Given the description of an element on the screen output the (x, y) to click on. 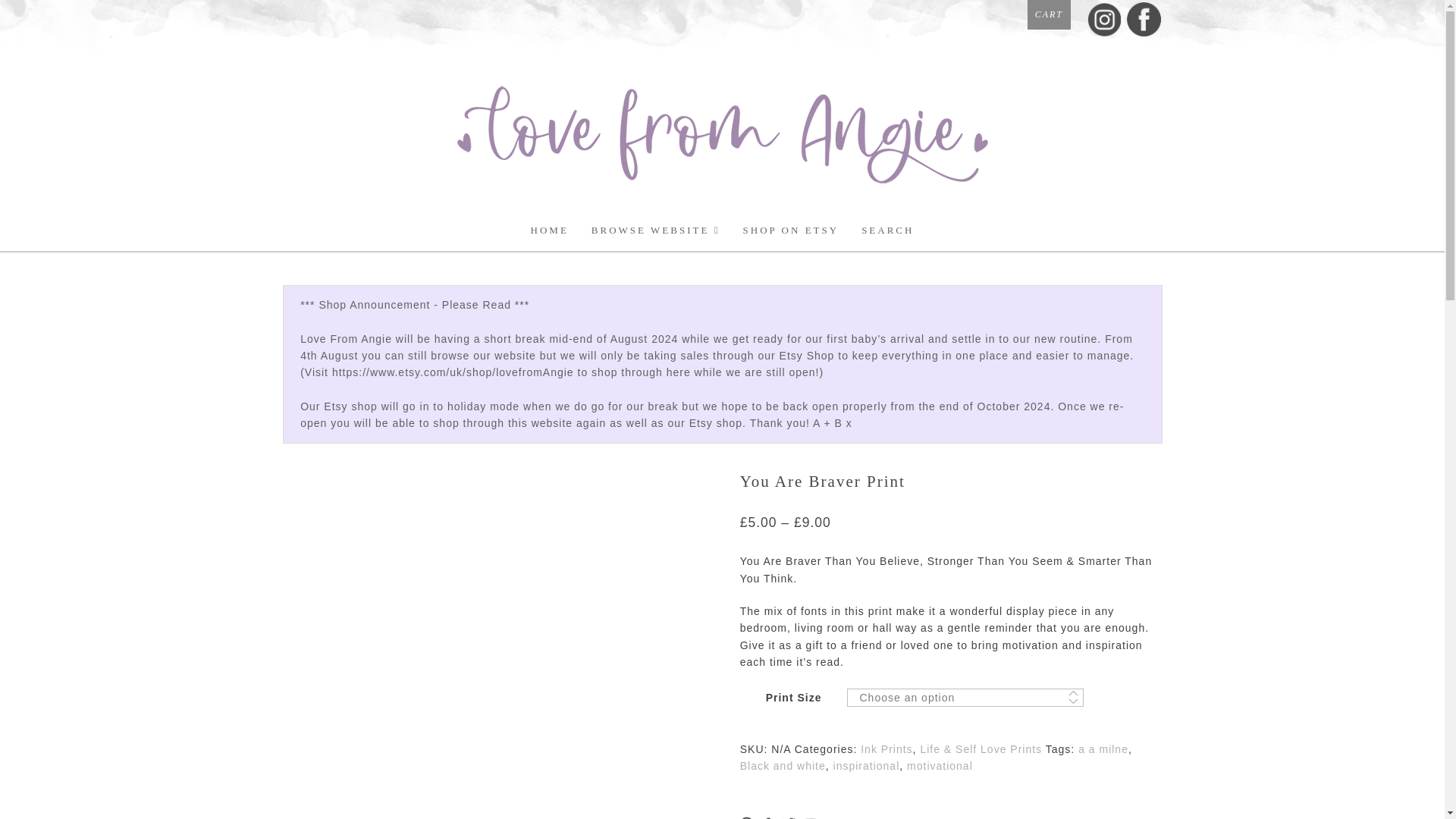
SEARCH (887, 230)
HOME (549, 230)
CART (1048, 14)
a a milne (1103, 748)
SHOP ON ETSY (791, 230)
BROWSE WEBSITE (655, 230)
Ink Prints (886, 748)
